Given the description of an element on the screen output the (x, y) to click on. 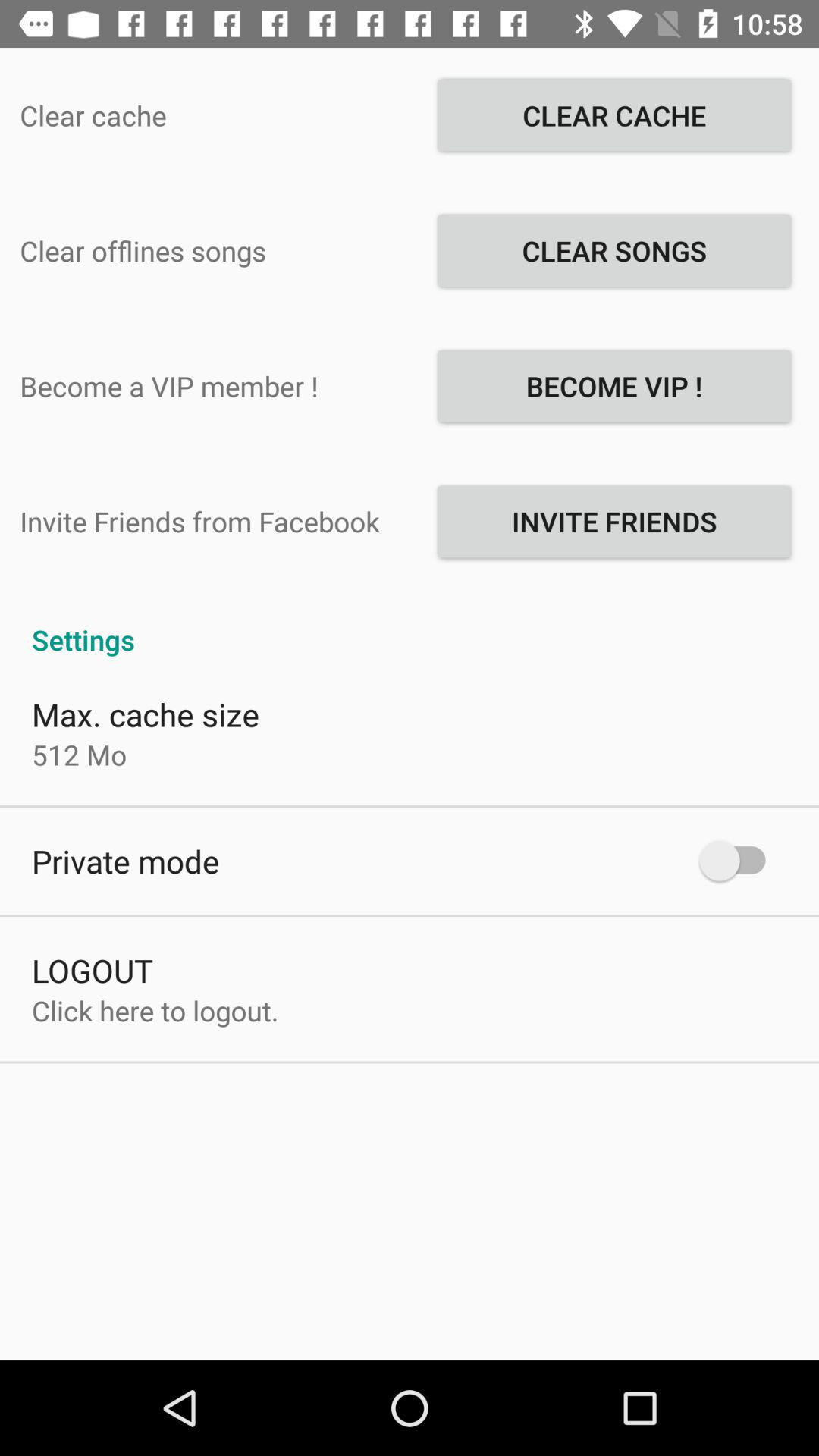
choose icon above the 512 mo app (145, 713)
